Given the description of an element on the screen output the (x, y) to click on. 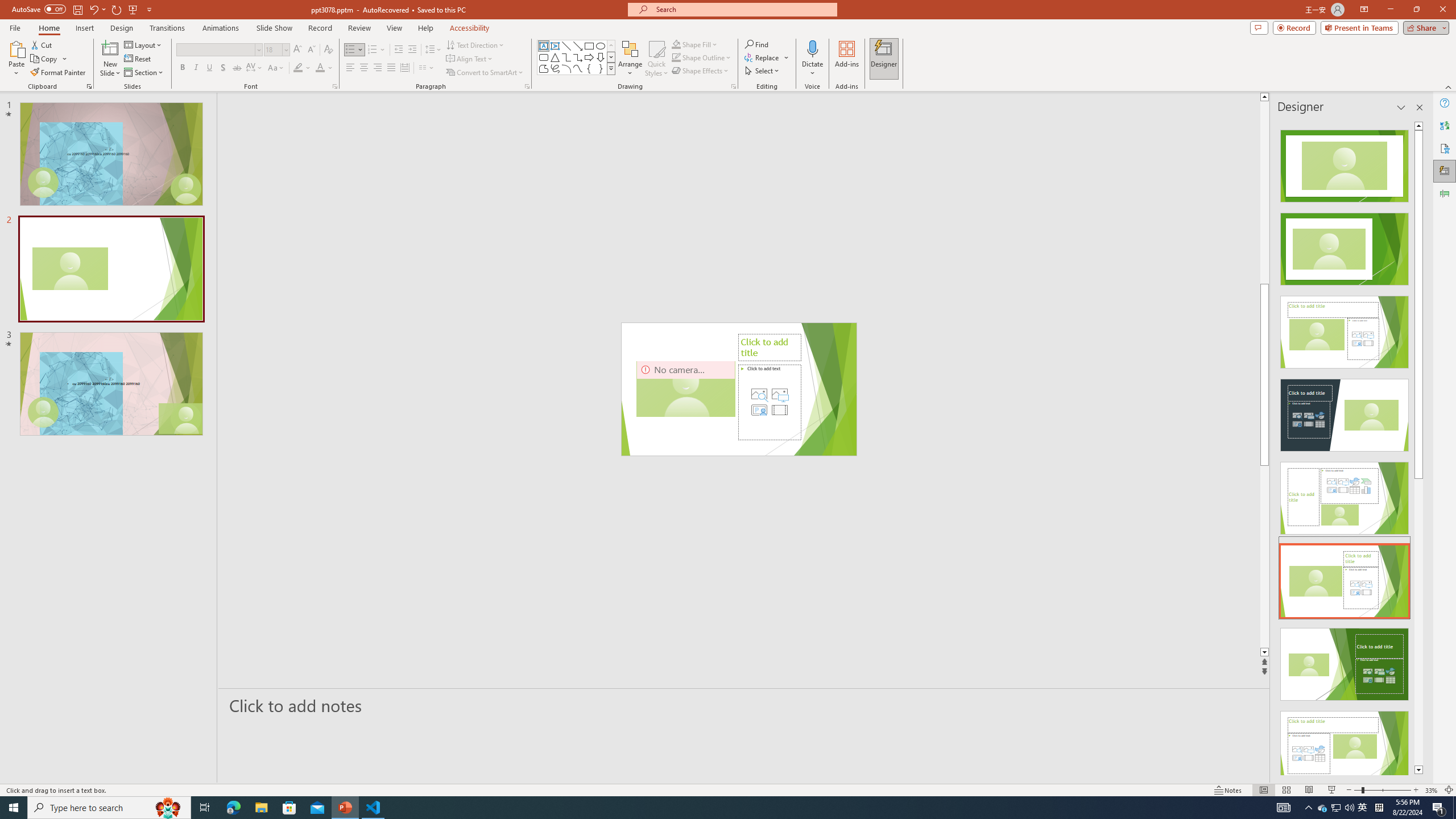
Pictures (779, 394)
Design Idea (1344, 743)
